Given the description of an element on the screen output the (x, y) to click on. 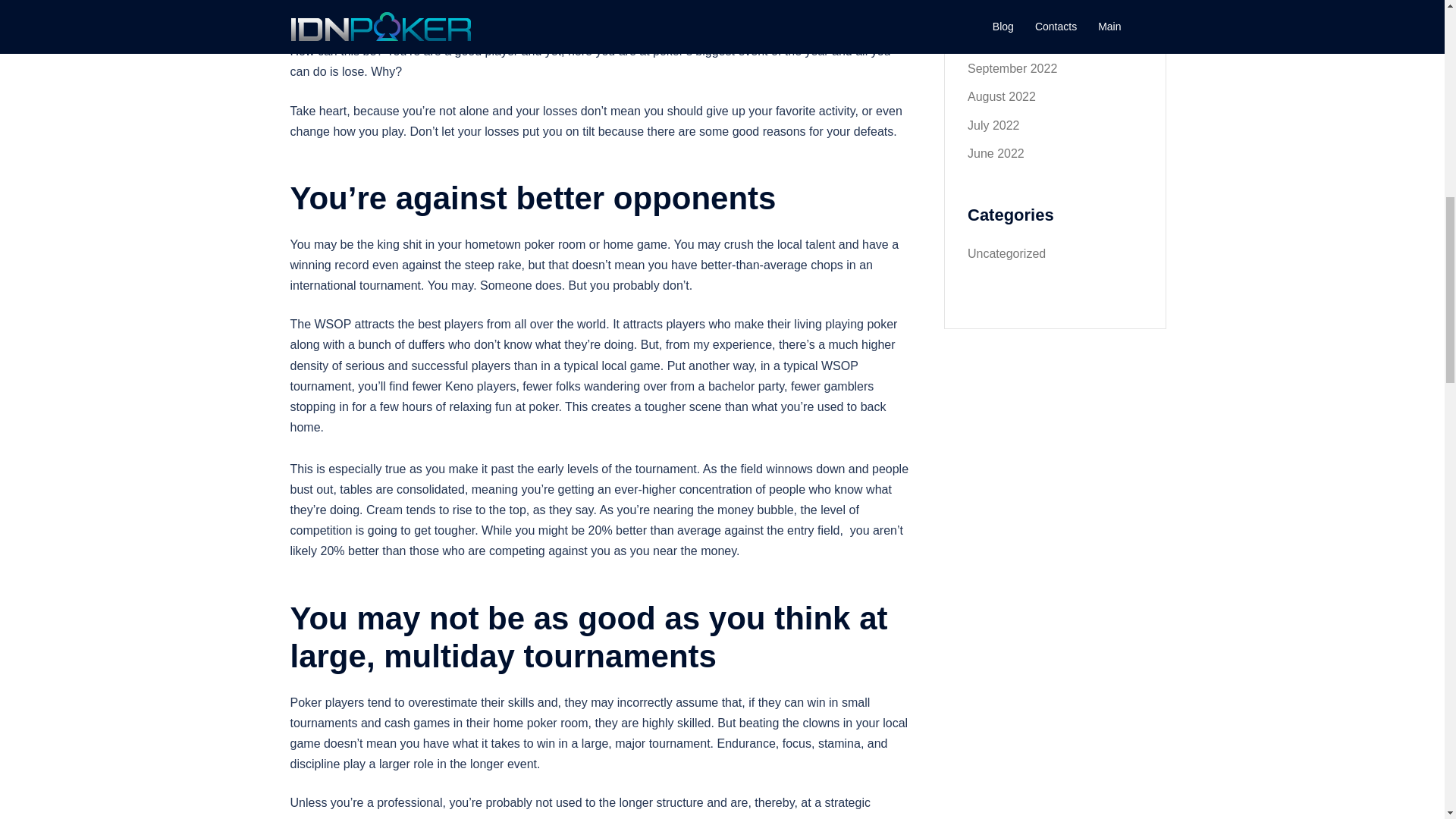
September 2022 (1012, 68)
November 2022 (1011, 11)
August 2022 (1001, 96)
October 2022 (1004, 40)
